Given the description of an element on the screen output the (x, y) to click on. 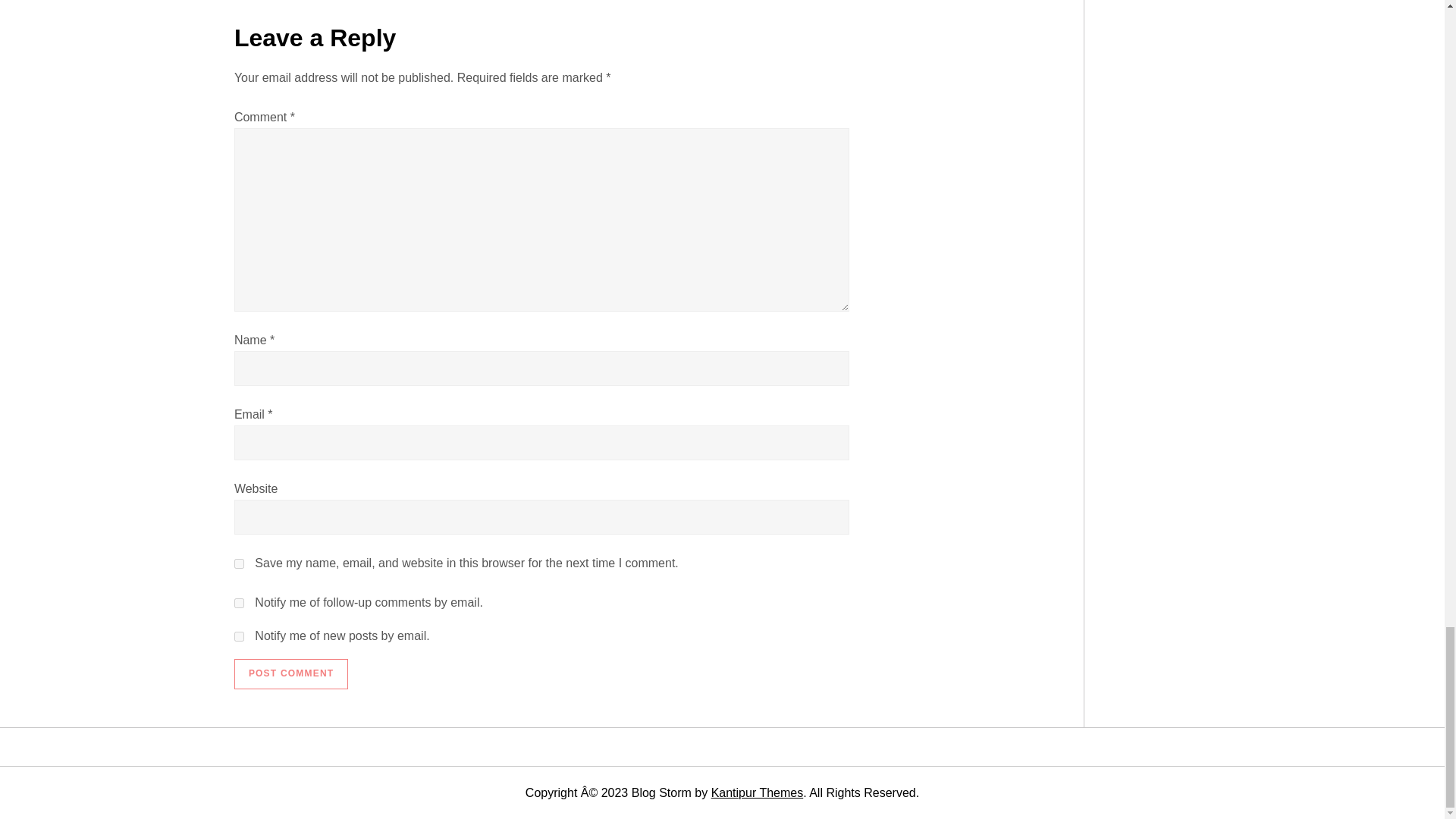
Post Comment (290, 674)
yes (239, 563)
subscribe (239, 603)
Post Comment (290, 674)
subscribe (239, 636)
Kantipur Themes (757, 792)
